Given the description of an element on the screen output the (x, y) to click on. 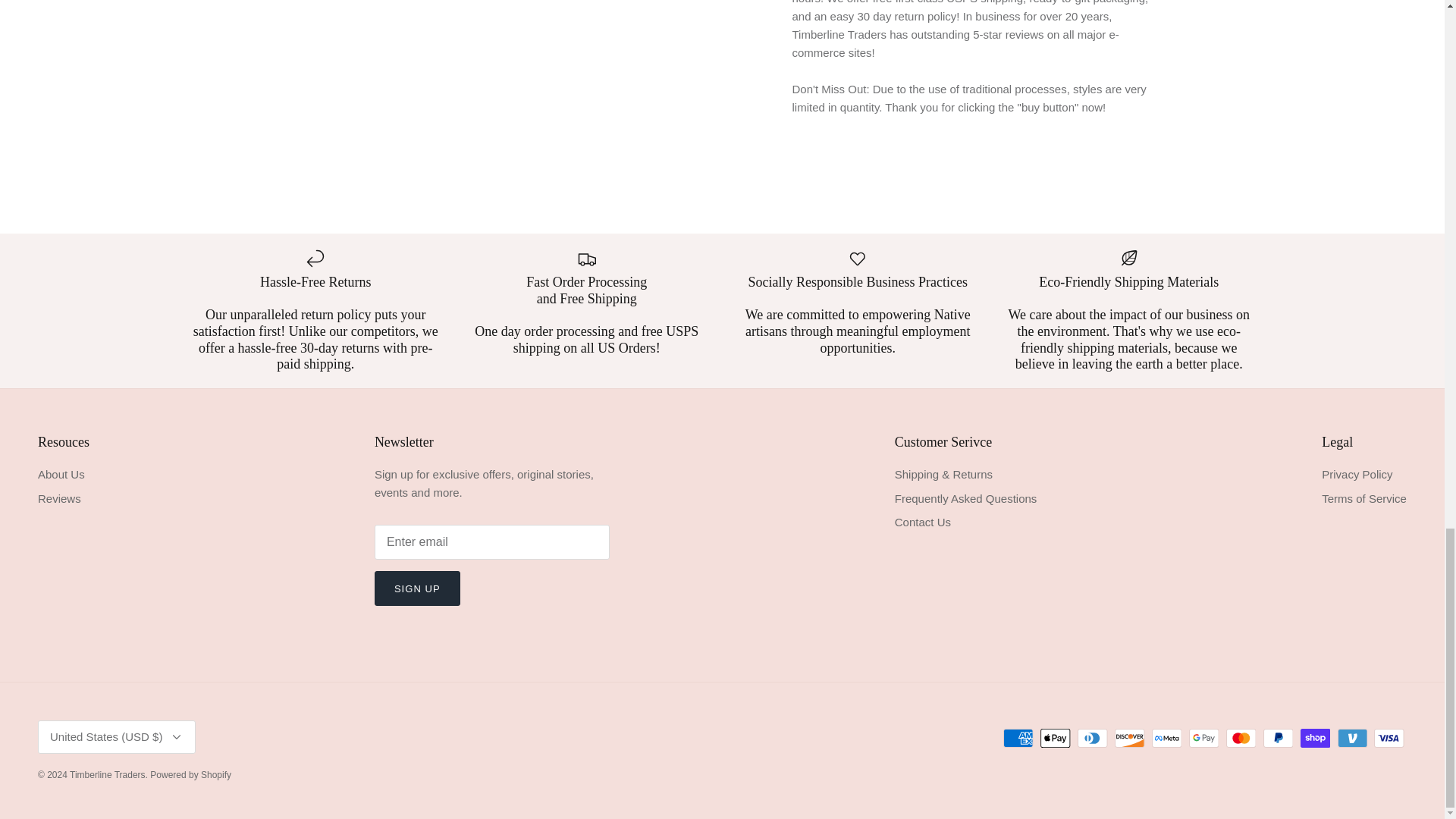
Mastercard (1240, 737)
Google Pay (1203, 737)
Meta Pay (1166, 737)
American Express (1018, 737)
PayPal (1277, 737)
Shop Pay (1315, 737)
Apple Pay (1055, 737)
Discover (1129, 737)
Diners Club (1092, 737)
